Given the description of an element on the screen output the (x, y) to click on. 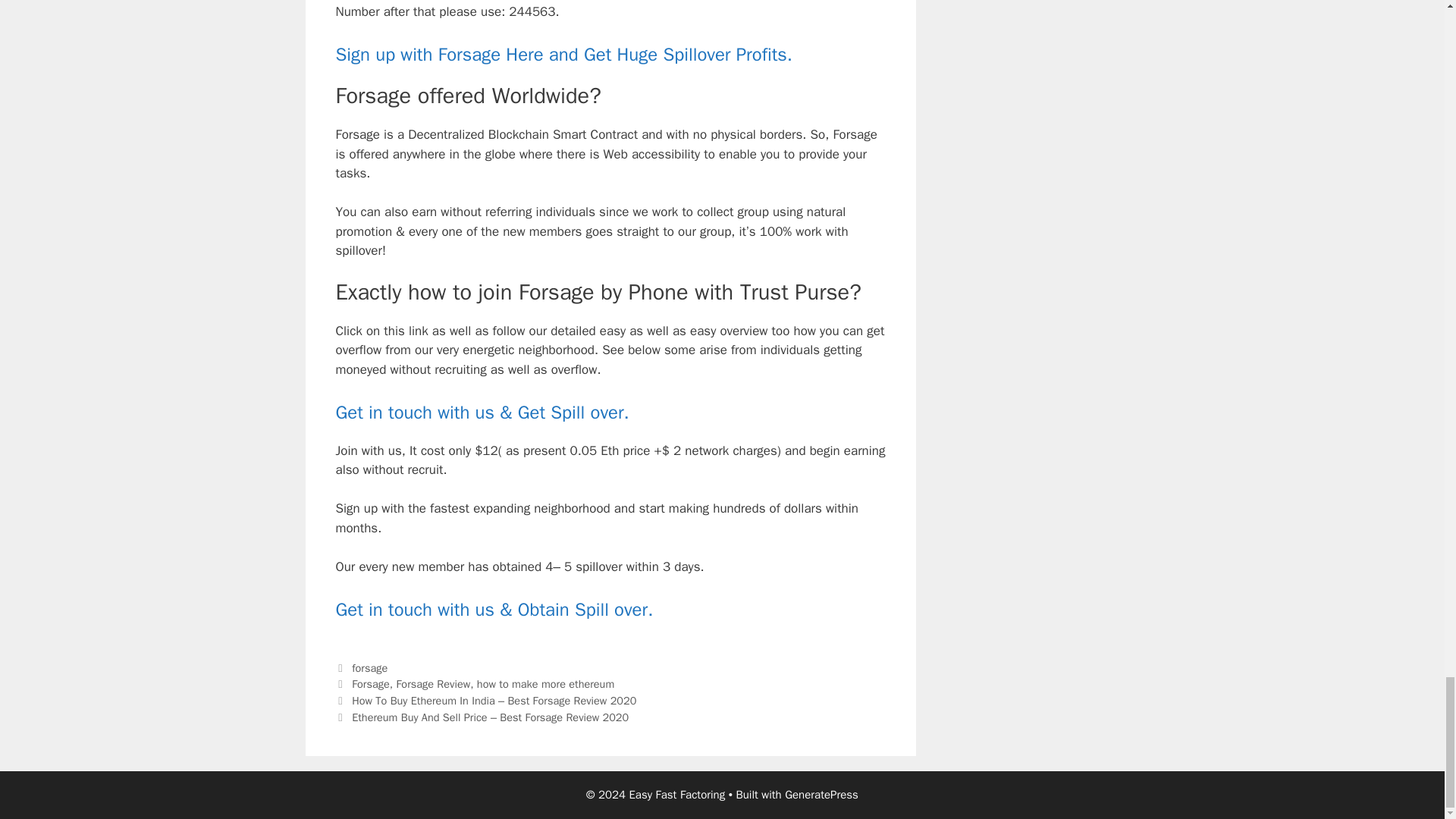
Sign up with Forsage Here and Get Huge Spillover Profits. (563, 54)
GeneratePress (821, 794)
Forsage (371, 684)
Forsage Review (433, 684)
forsage (369, 667)
how to make more ethereum (545, 684)
